Given the description of an element on the screen output the (x, y) to click on. 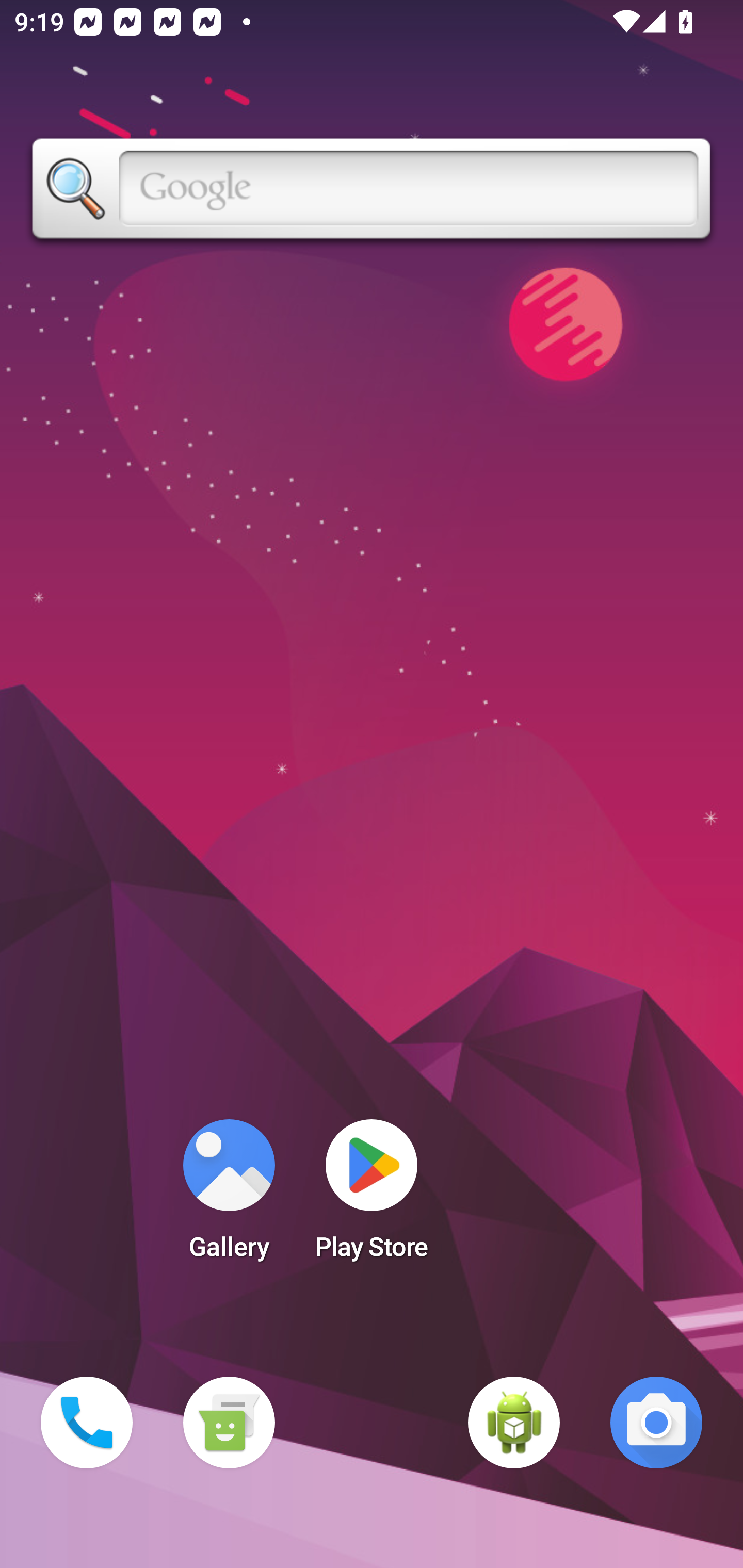
Gallery (228, 1195)
Play Store (371, 1195)
Phone (86, 1422)
Messaging (228, 1422)
WebView Browser Tester (513, 1422)
Camera (656, 1422)
